Given the description of an element on the screen output the (x, y) to click on. 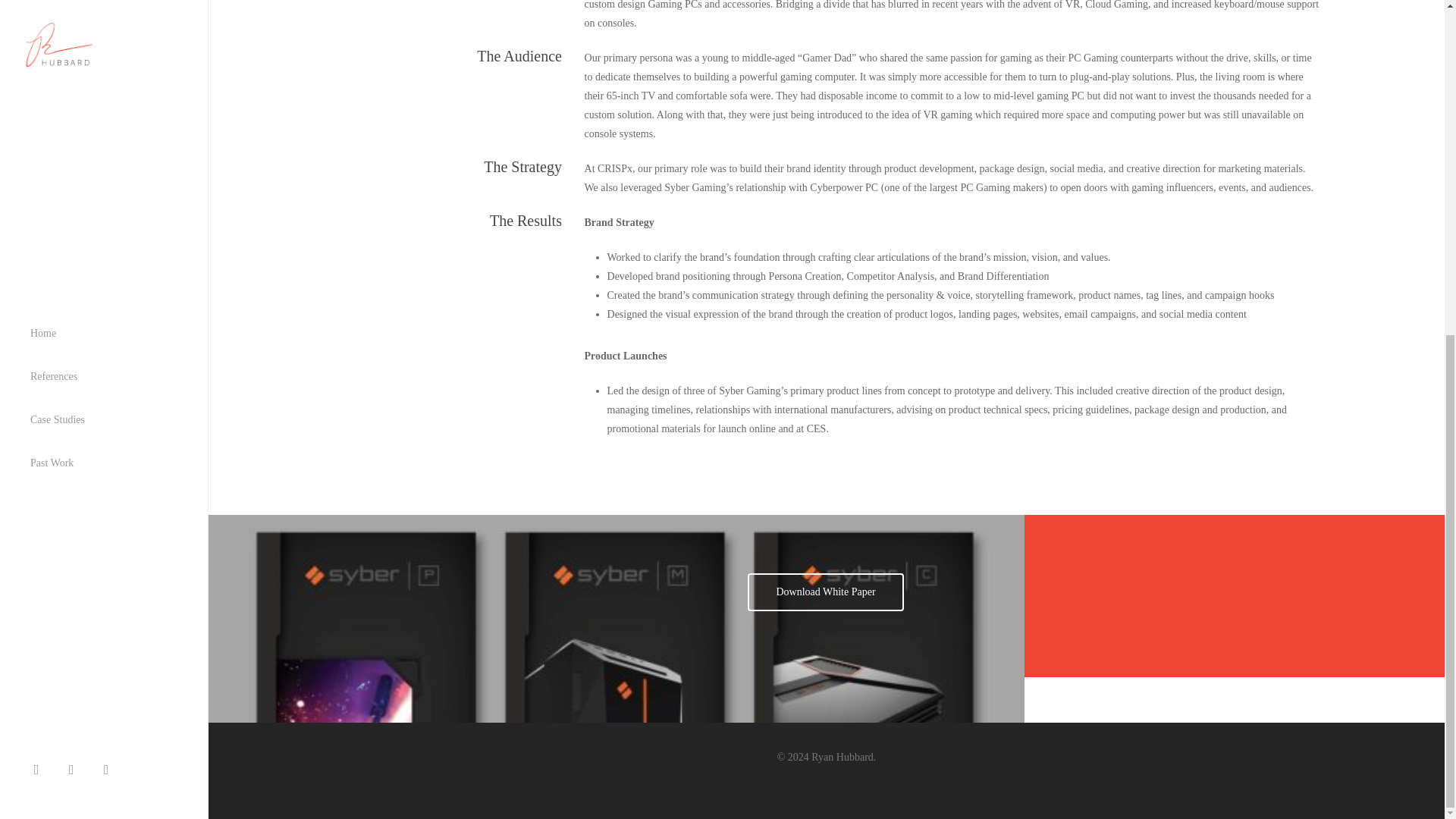
linkedin (40, 207)
dribbble (75, 207)
behance (110, 207)
Download White Paper (825, 591)
